Given the description of an element on the screen output the (x, y) to click on. 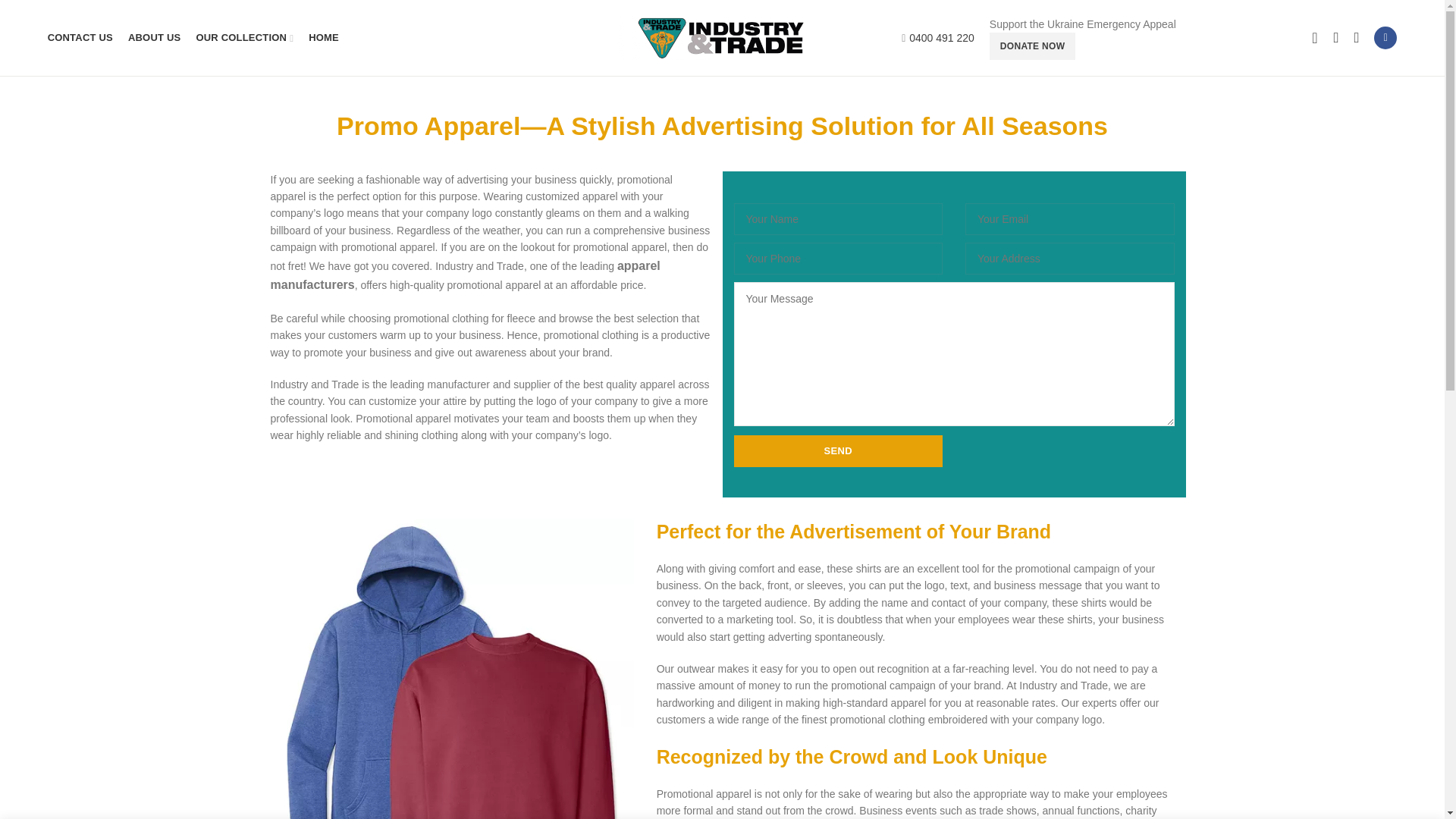
Send (838, 450)
OUR COLLECTION (244, 37)
Send (838, 450)
DONATE NOW (1032, 45)
HOME (323, 37)
CONTACT US (80, 37)
0400 491 220 (941, 37)
ABOUT US (154, 37)
Facebook (1385, 37)
